Given the description of an element on the screen output the (x, y) to click on. 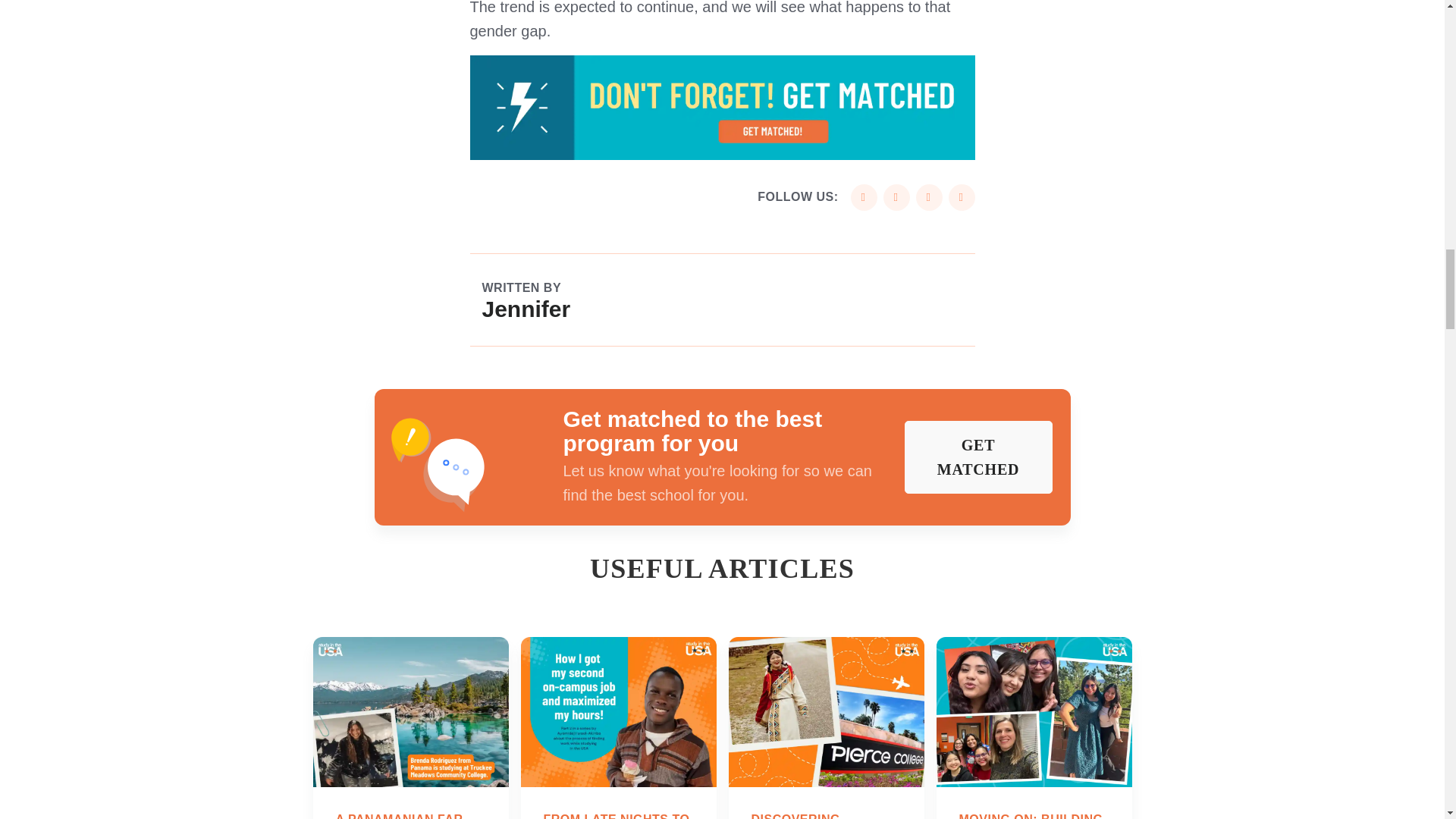
Twitter logo icon. (896, 197)
Facebook Icon. (863, 197)
